Given the description of an element on the screen output the (x, y) to click on. 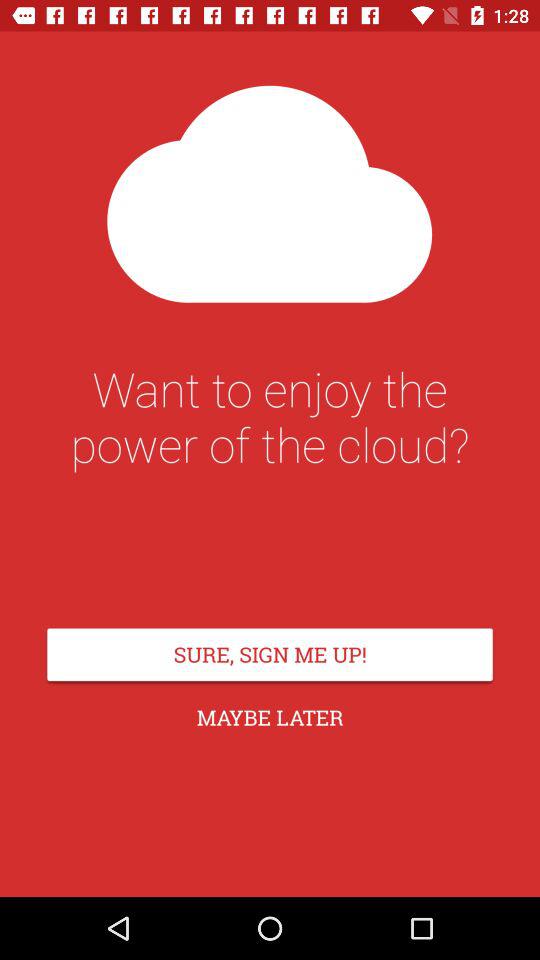
flip to the sure sign me icon (269, 654)
